Given the description of an element on the screen output the (x, y) to click on. 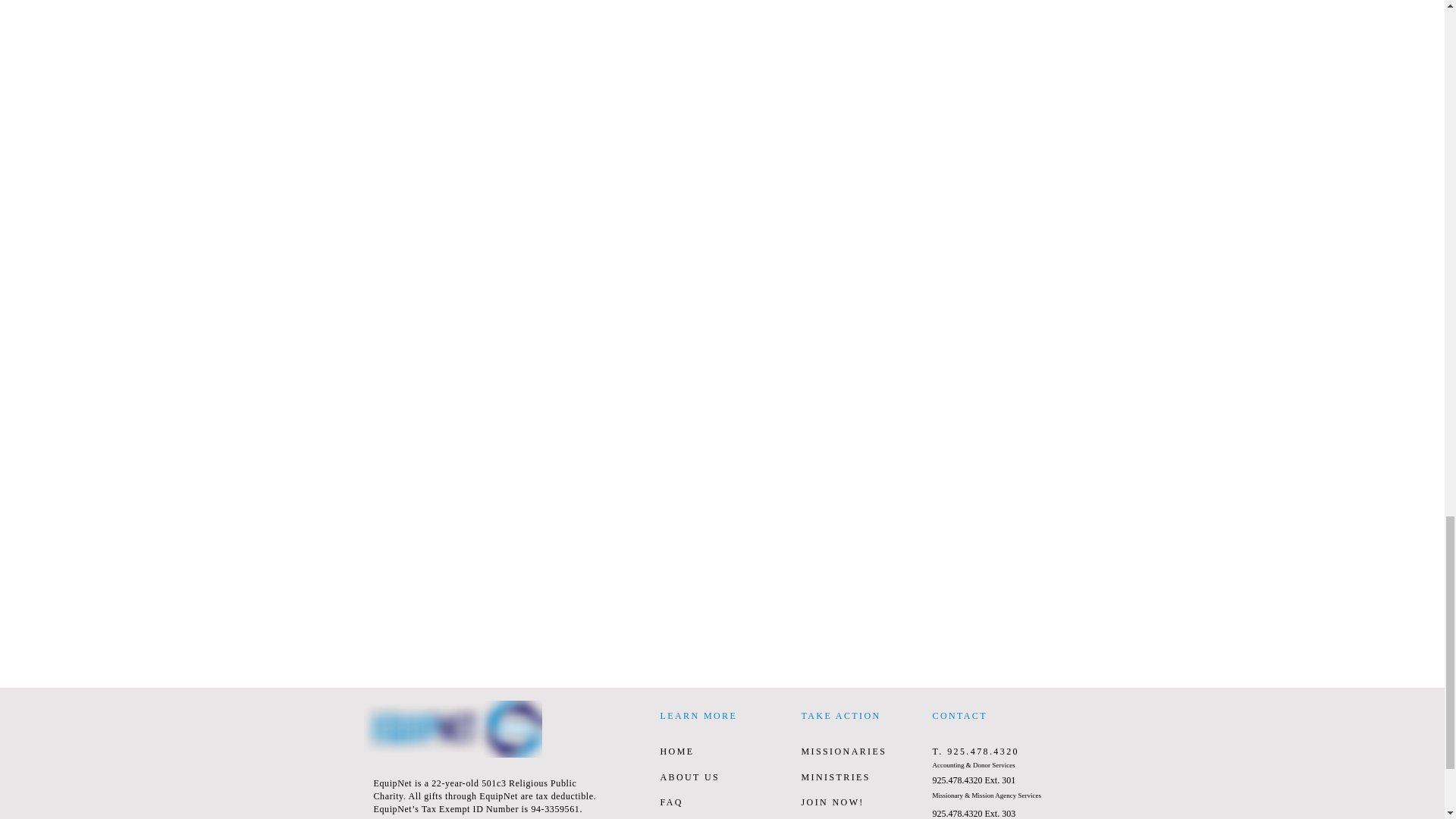
FAQ (670, 801)
ABOUT US (689, 777)
JOIN NOW! (831, 801)
HOME (676, 751)
MINISTRIES (834, 777)
MISSIONARIES (843, 751)
